Given the description of an element on the screen output the (x, y) to click on. 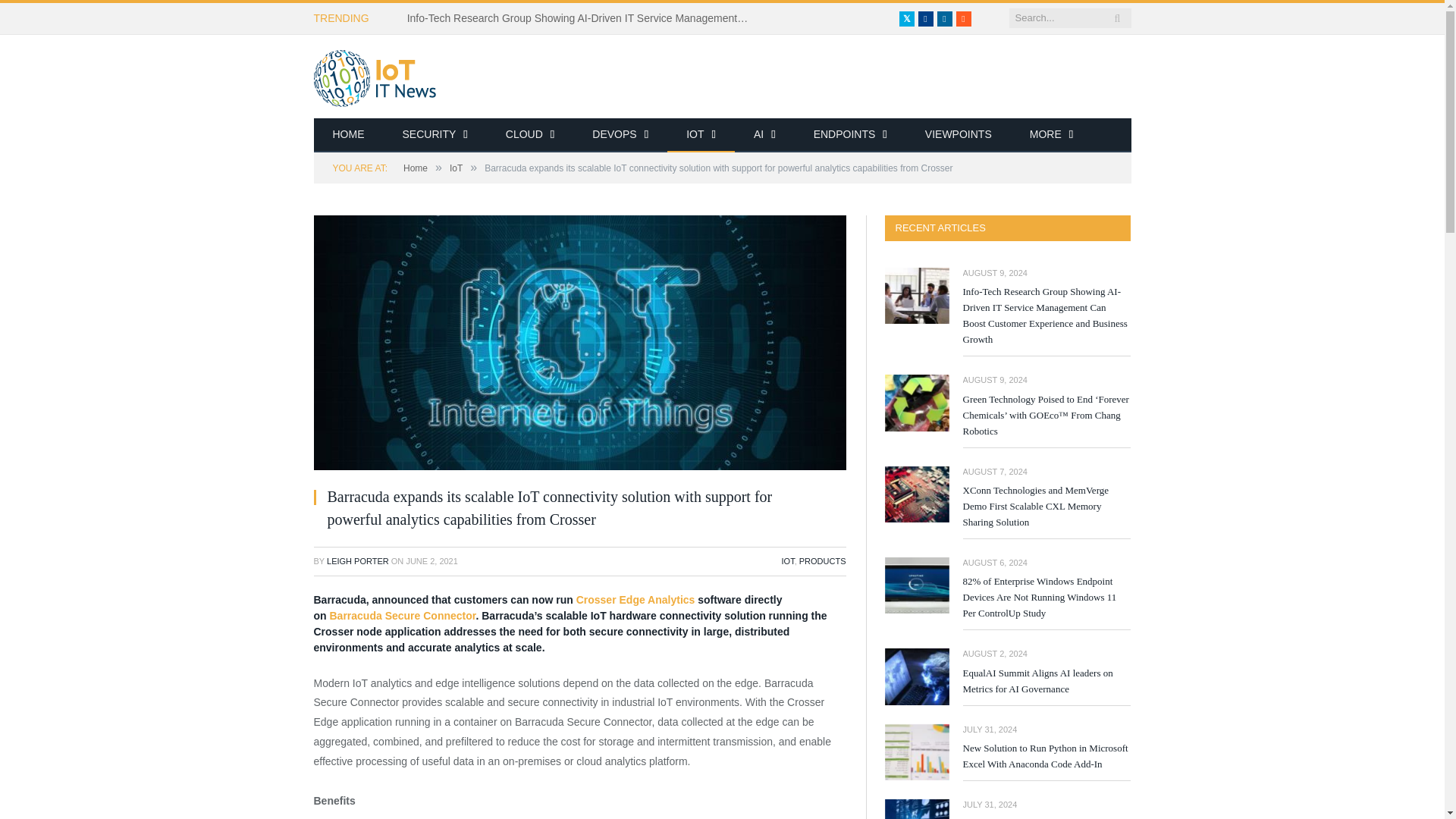
SECURITY (435, 134)
CLOUD (529, 134)
RSS (963, 18)
LinkedIn (944, 18)
HOME (349, 134)
Twitter (906, 18)
LinkedIn (944, 18)
Facebook (925, 18)
Home (349, 134)
